Given the description of an element on the screen output the (x, y) to click on. 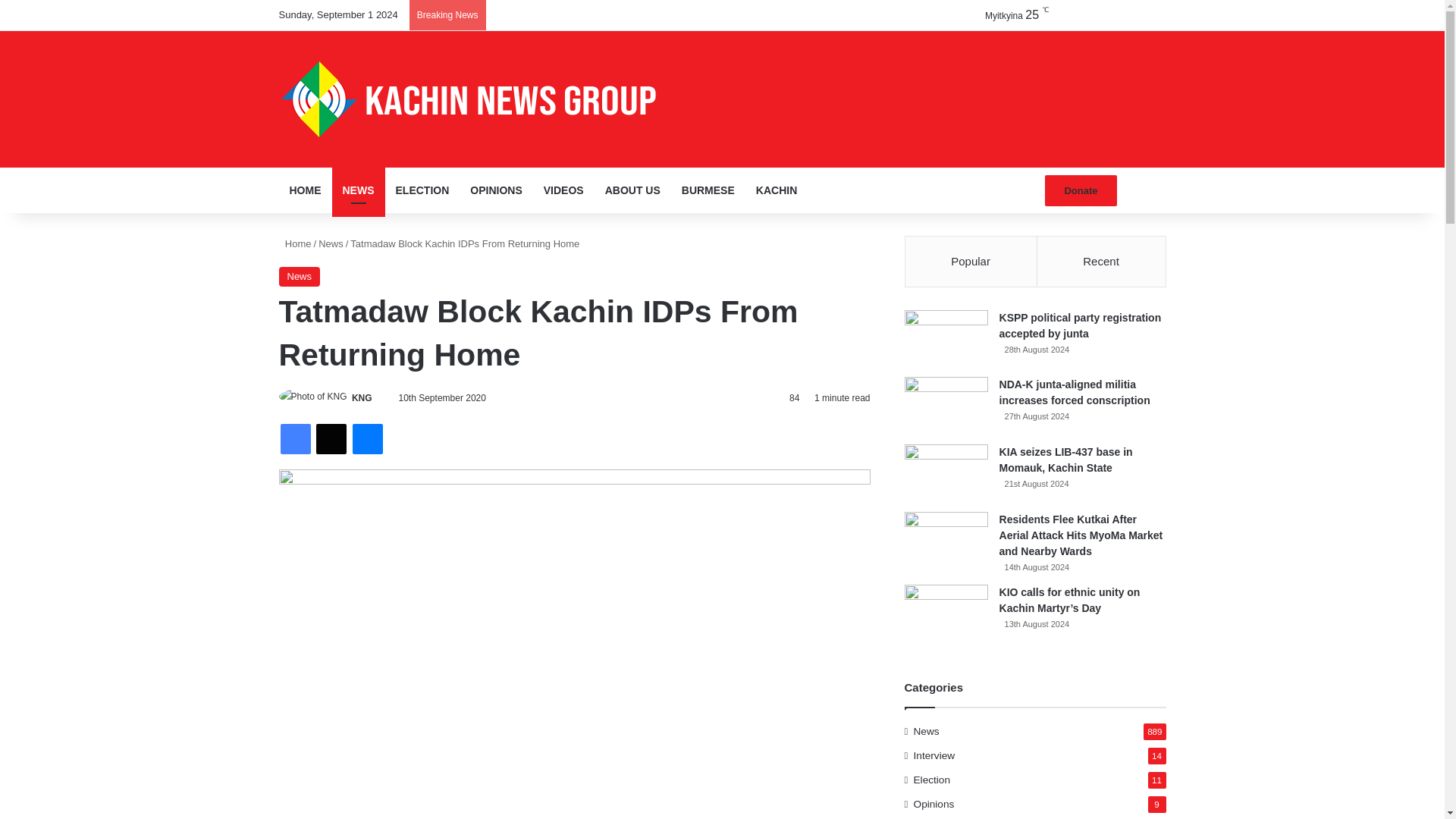
Donate (1080, 190)
News (299, 276)
Messenger (367, 439)
Home (295, 243)
ABOUT US (632, 189)
Scattered Clouds (1003, 15)
NEWS (358, 189)
HOME (305, 189)
Kachin News Group  (468, 99)
Donate (1080, 190)
